Given the description of an element on the screen output the (x, y) to click on. 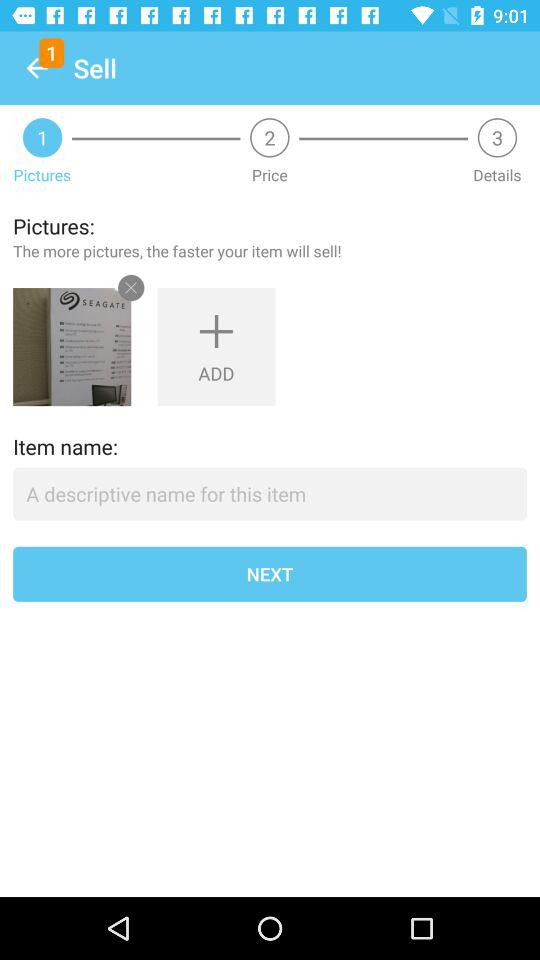
scroll to next item (269, 573)
